Given the description of an element on the screen output the (x, y) to click on. 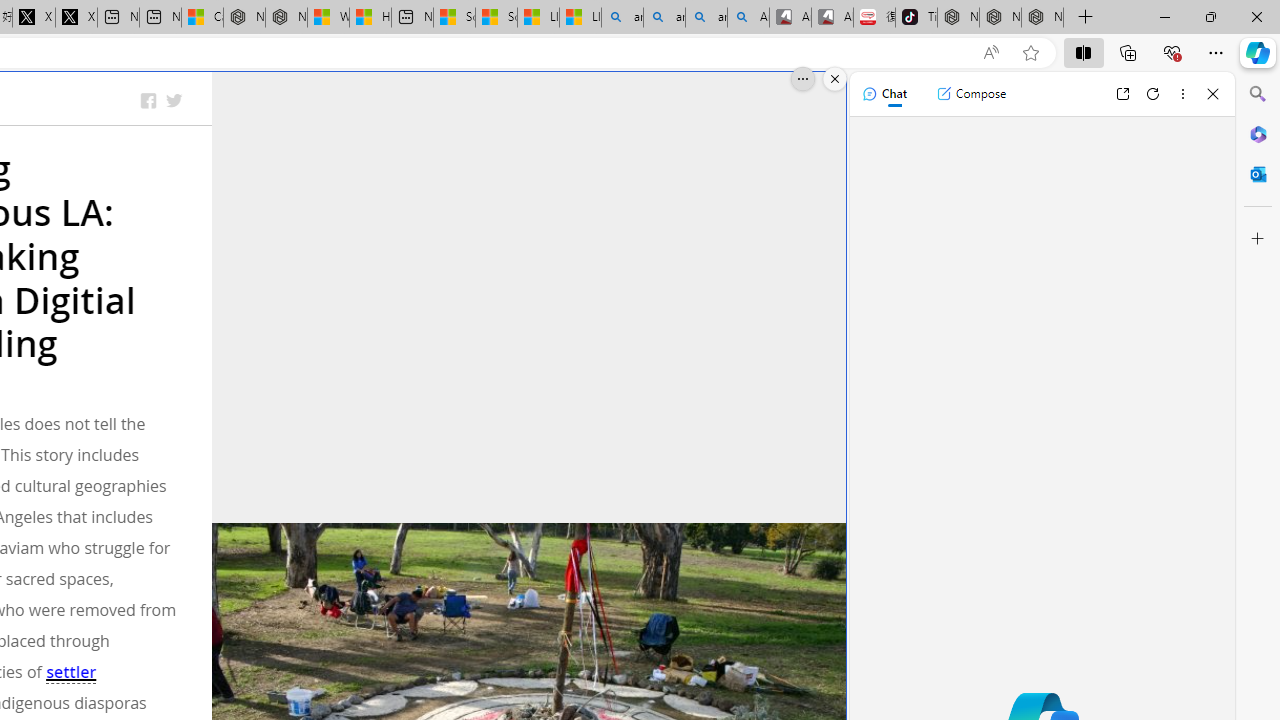
Share on Twitter (174, 101)
Close split screen. (835, 79)
Microsoft 365 (1258, 133)
Restore (1210, 16)
Share on Facebook (148, 101)
Chat (884, 93)
Settings and more (Alt+F) (1215, 52)
Nordace Siena Pro 15 Backpack (1000, 17)
Close (1213, 93)
New Tab (1085, 17)
